Given the description of an element on the screen output the (x, y) to click on. 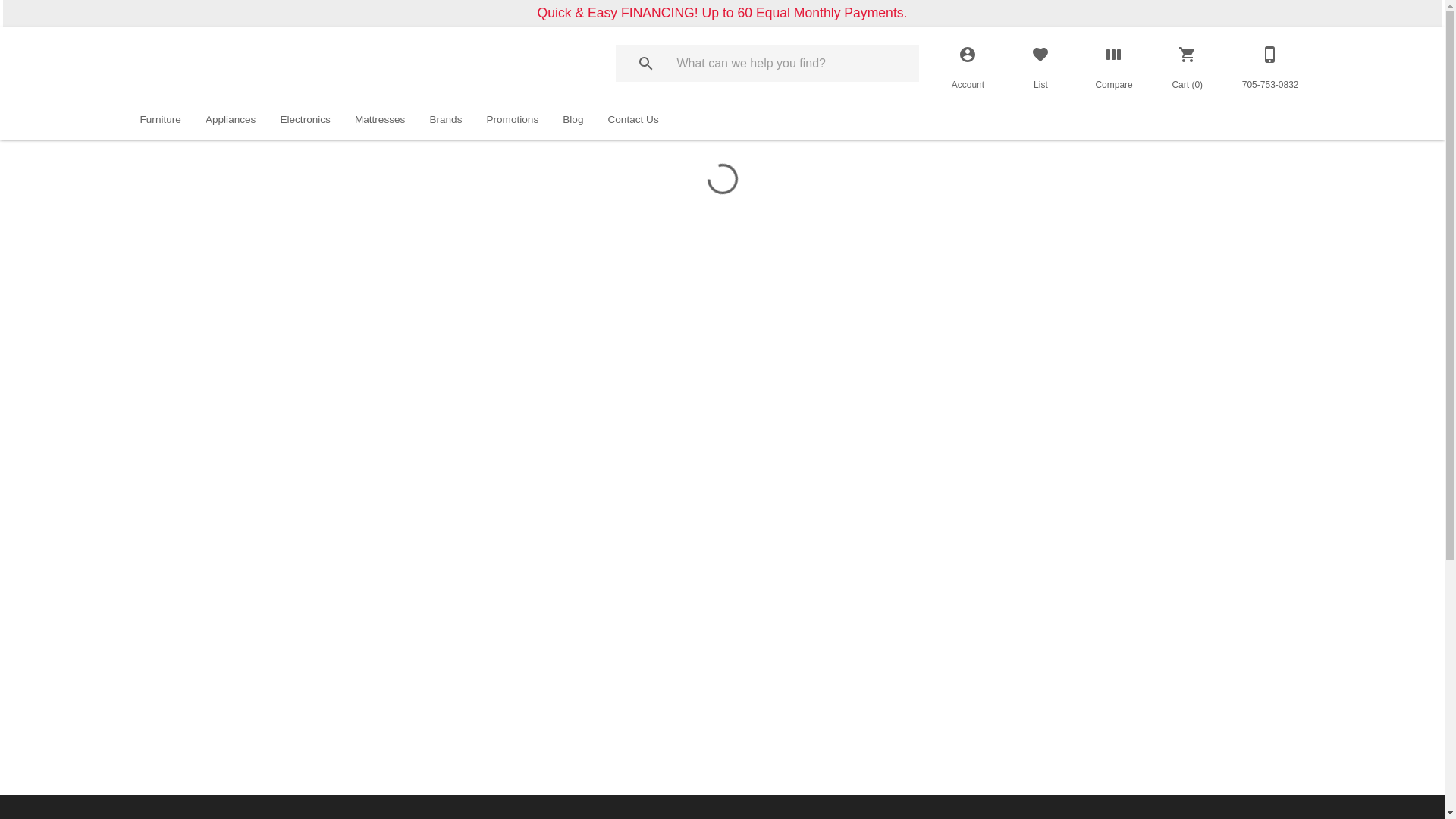
Furniture Element type: text (159, 119)
Mattresses Element type: text (379, 119)
Promotions Element type: text (511, 119)
Contact Us Element type: text (632, 119)
Brands Element type: text (445, 119)
Blog Element type: text (572, 119)
Appliances Element type: text (230, 119)
List Element type: text (1040, 63)
705-753-0832 Element type: text (1270, 63)
Cart (0) Element type: text (1187, 63)
Compare Element type: text (1113, 63)
Electronics Element type: text (304, 119)
